Given the description of an element on the screen output the (x, y) to click on. 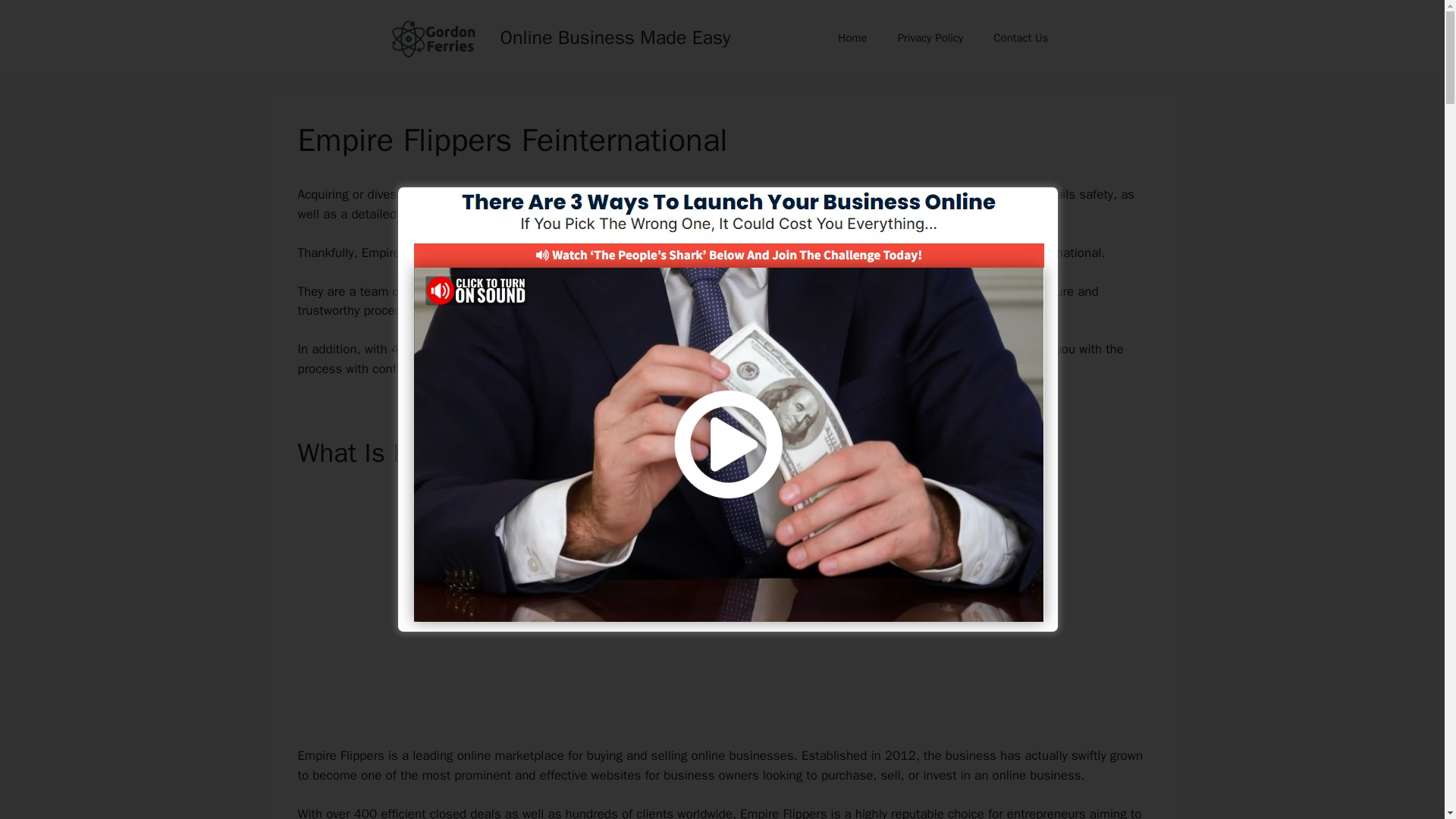
Privacy Policy (930, 37)
Home (852, 37)
Online Business Made Easy (615, 37)
Contact Us (1020, 37)
